Given the description of an element on the screen output the (x, y) to click on. 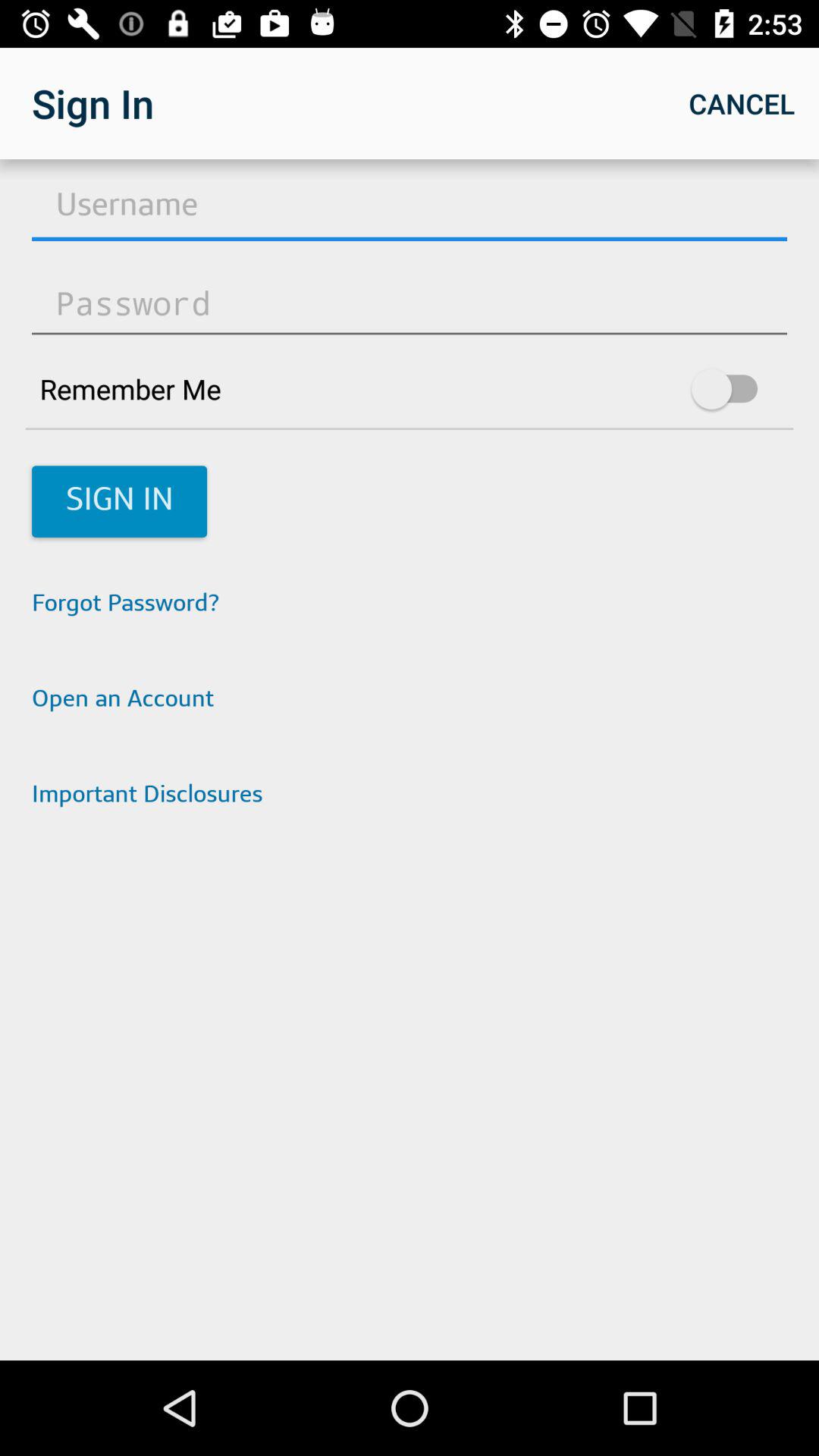
turn on item below sign in item (409, 604)
